Given the description of an element on the screen output the (x, y) to click on. 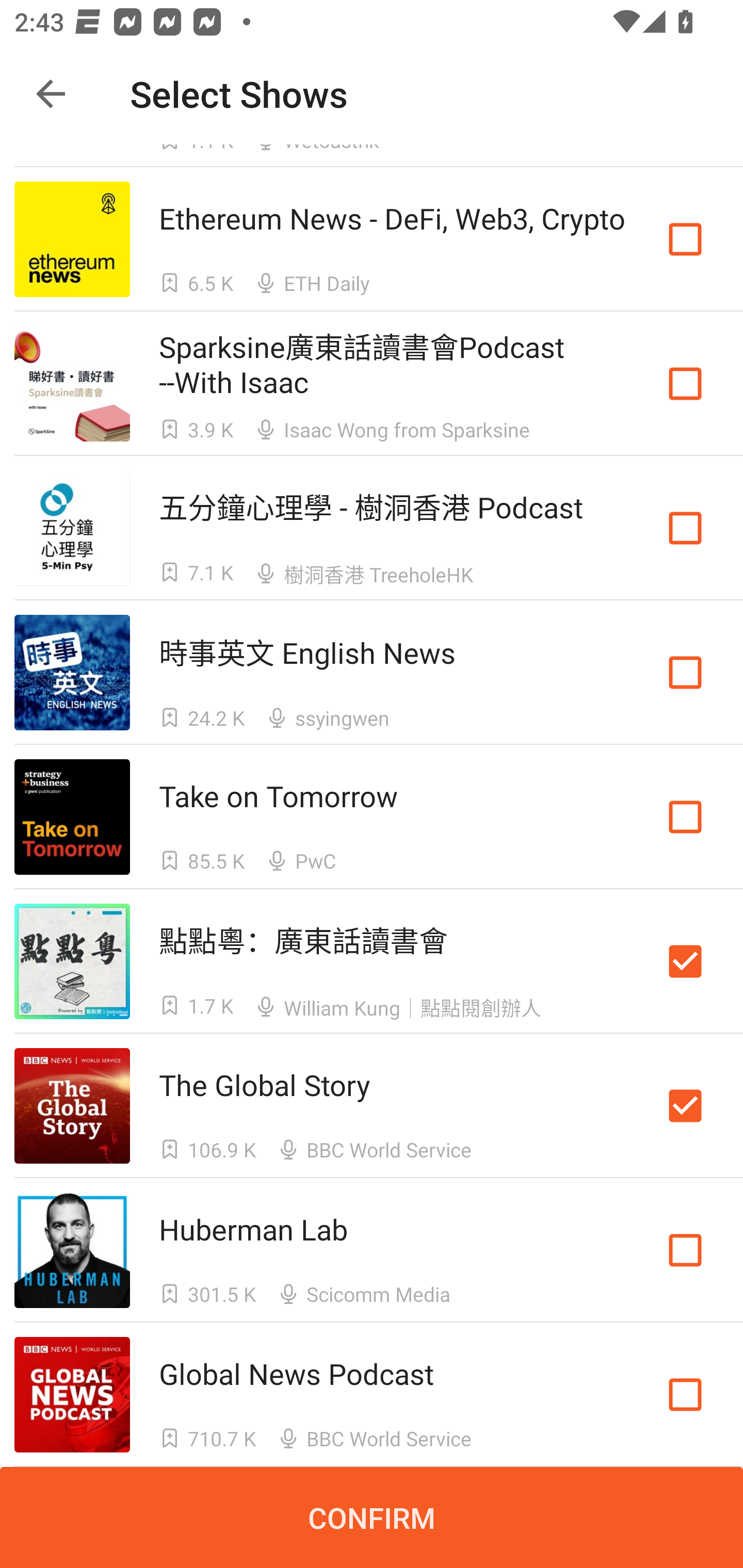
Navigate up (50, 93)
Take on Tomorrow Take on Tomorrow  85.5 K  PwC (371, 816)
CONFIRM (371, 1517)
